Given the description of an element on the screen output the (x, y) to click on. 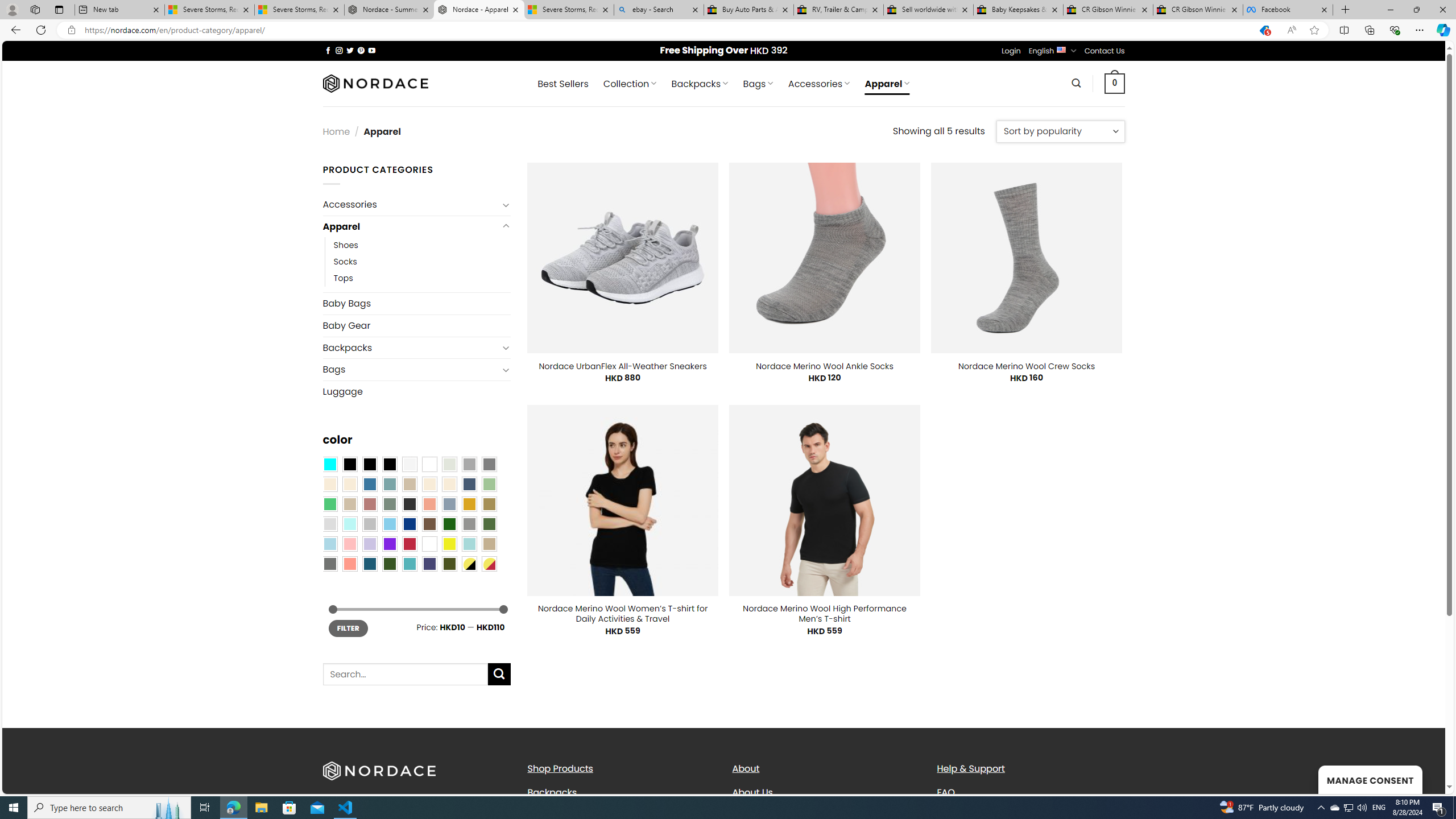
Coral (429, 503)
Light Taupe (349, 503)
Accessories (410, 204)
Nordace - Apparel (478, 9)
Capri Blue (369, 563)
Sell worldwide with eBay (928, 9)
Gray (468, 523)
Follow on Twitter (349, 49)
Socks (422, 262)
FAQ (1030, 792)
Yellow-Black (468, 563)
